Given the description of an element on the screen output the (x, y) to click on. 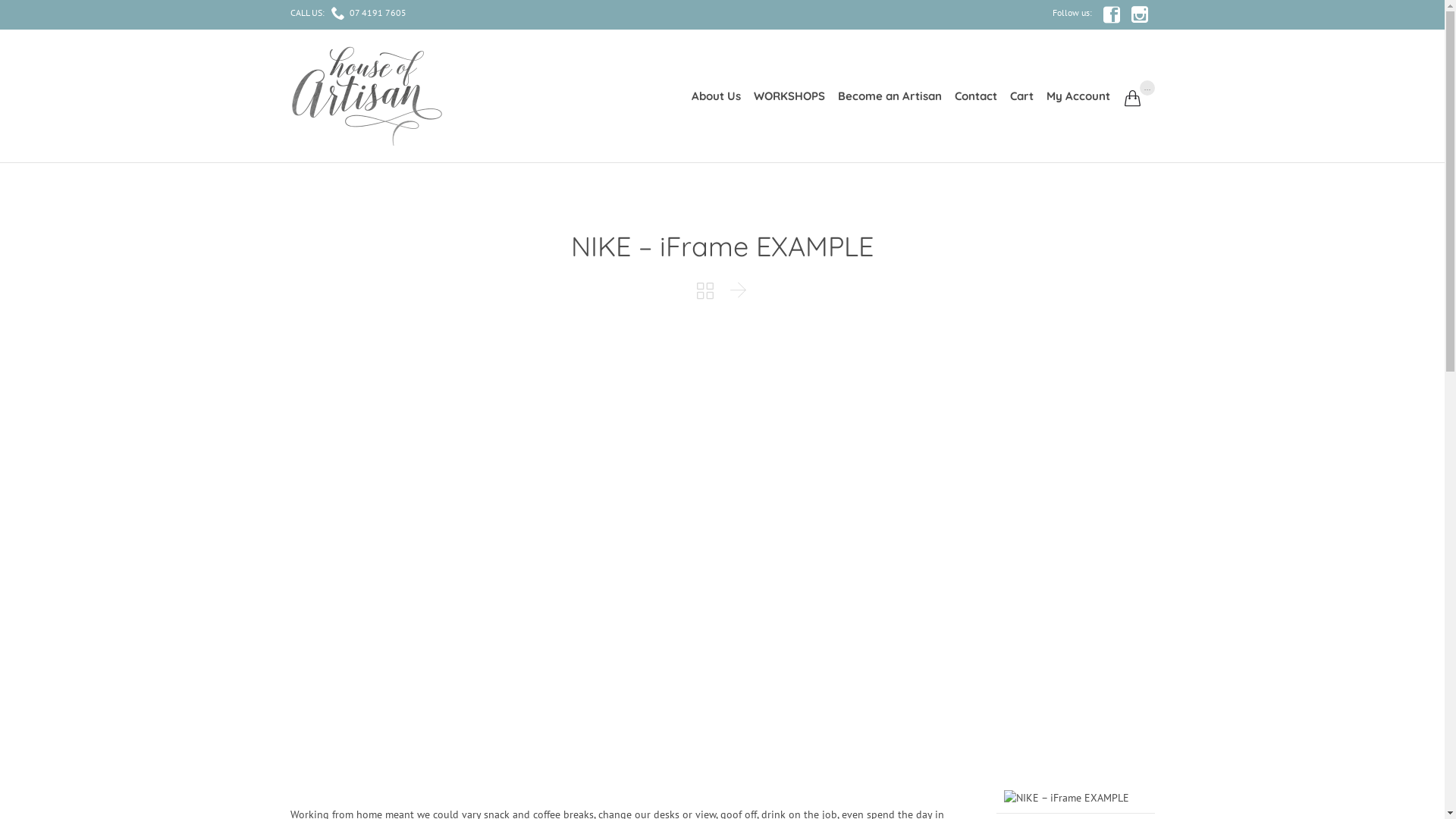
Cart Element type: text (1022, 95)
My Account Element type: text (1078, 95)
Become an Artisan Element type: text (889, 95)
House of Artisan Element type: hover (365, 95)
Skip to content Element type: text (1116, 75)
About Us Element type: text (716, 95)
Contact Element type: text (975, 95)
WORKSHOPS Element type: text (789, 95)
